Given the description of an element on the screen output the (x, y) to click on. 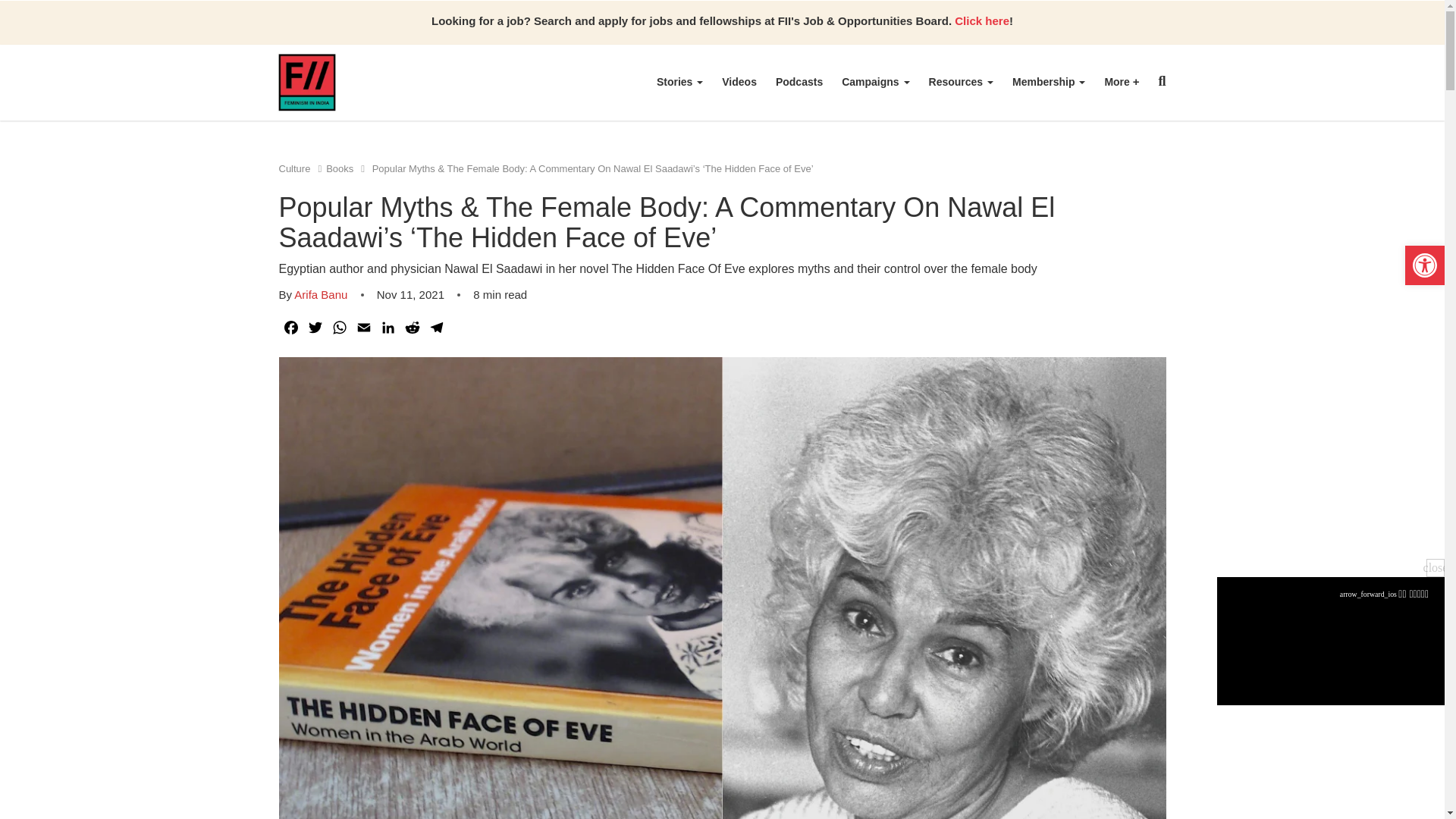
Accessibility Tools (1424, 265)
